Given the description of an element on the screen output the (x, y) to click on. 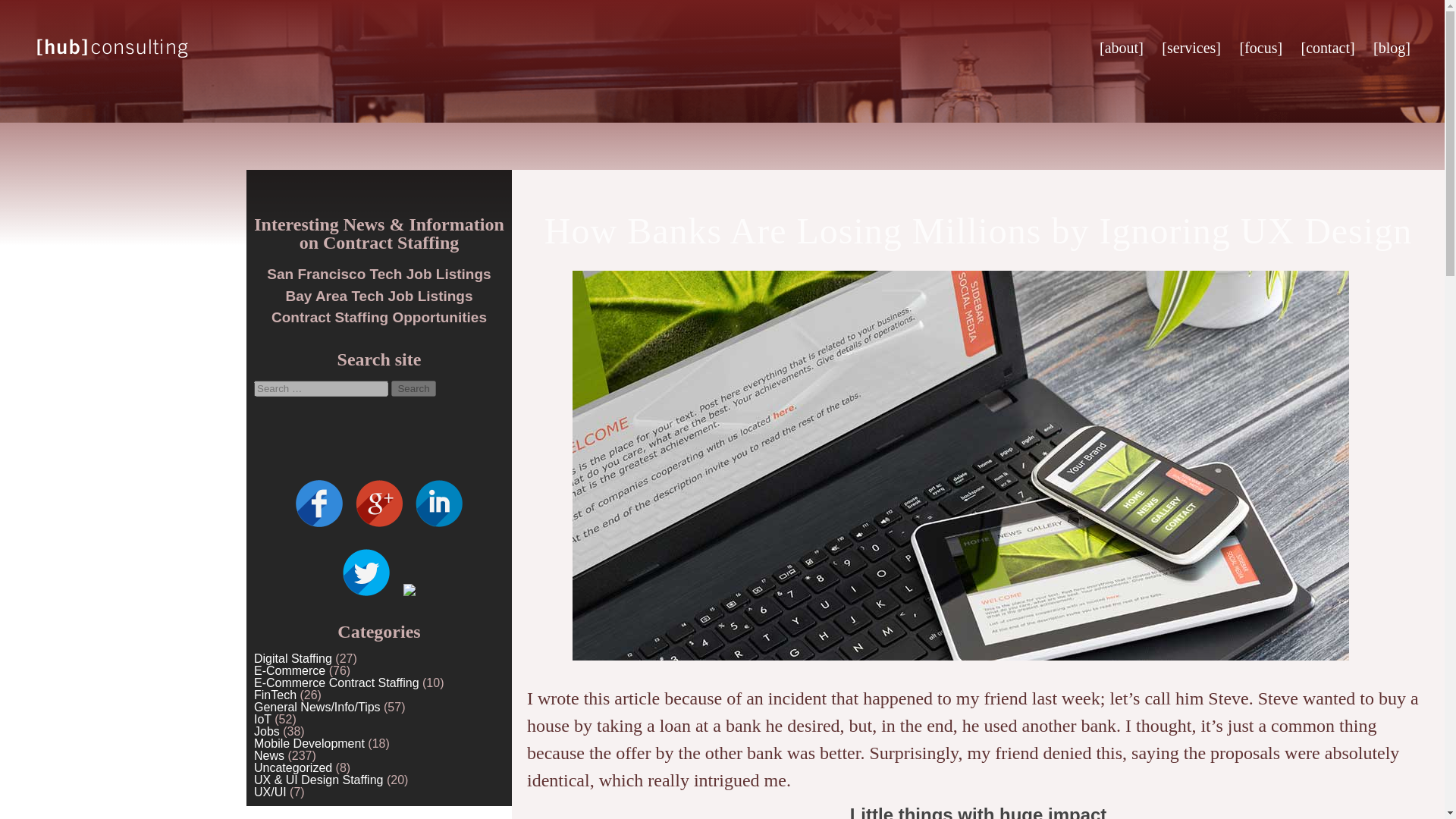
Uncategorized (292, 767)
Search (413, 388)
Digital Staffing (292, 658)
FinTech (275, 694)
IoT (261, 718)
News (268, 755)
Search (413, 388)
How Banks Are Losing Millions by Ignoring UX Design (978, 230)
E-Commerce (288, 670)
E-Commerce Contract Staffing (336, 682)
